Given the description of an element on the screen output the (x, y) to click on. 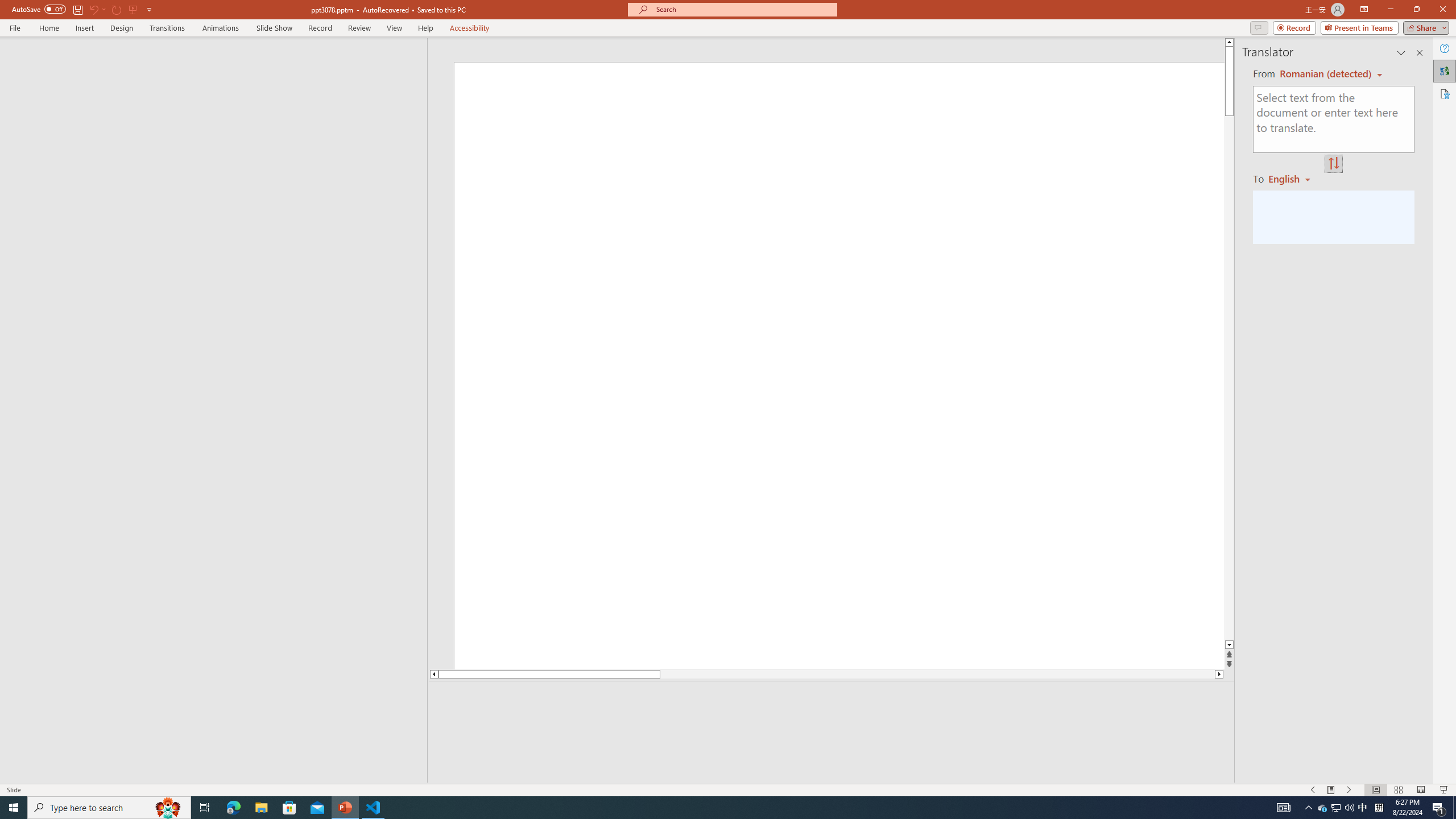
Slide Show Previous On (1313, 790)
Menu On (1331, 790)
